Given the description of an element on the screen output the (x, y) to click on. 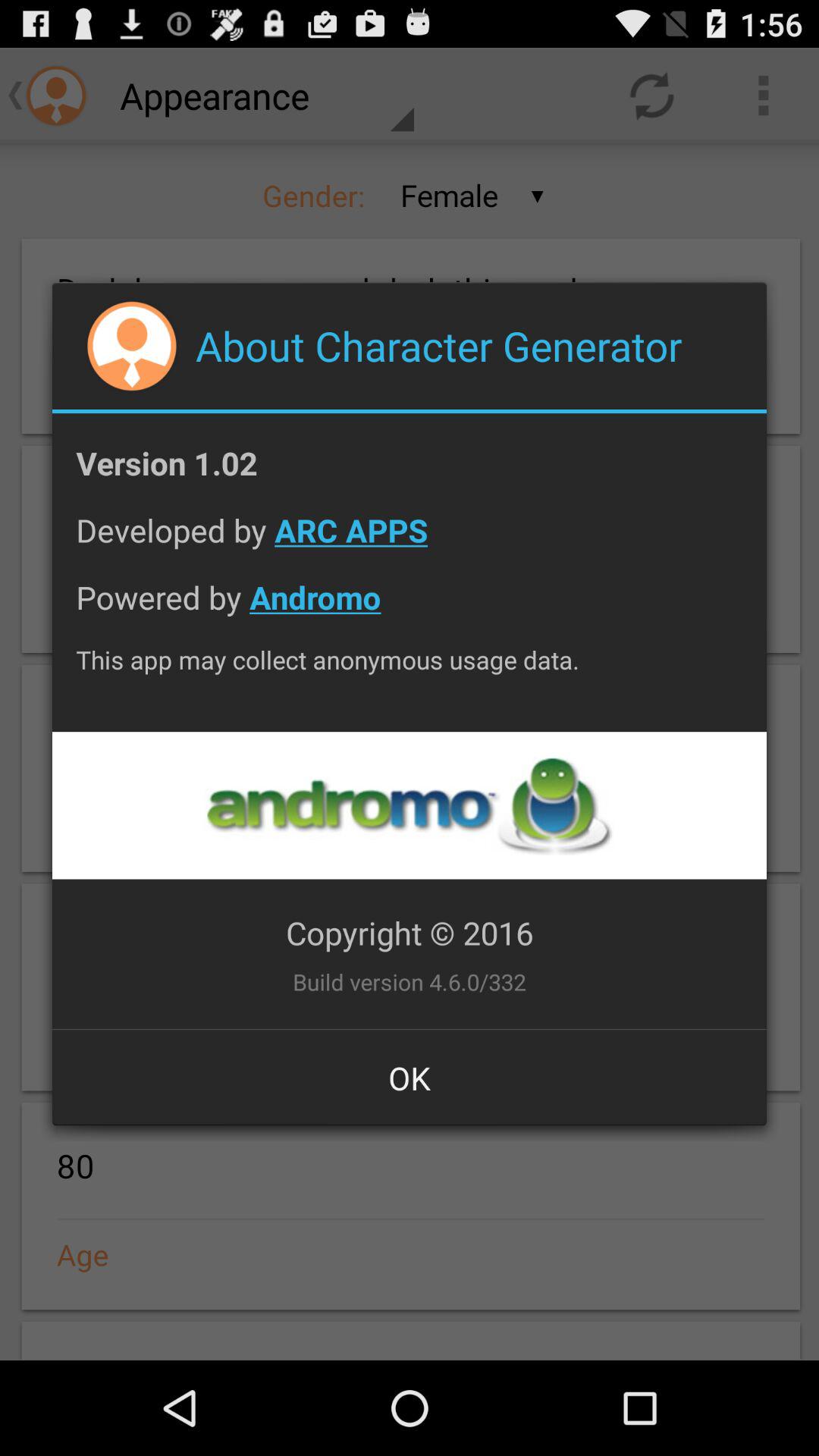
go to andromo website (408, 805)
